Given the description of an element on the screen output the (x, y) to click on. 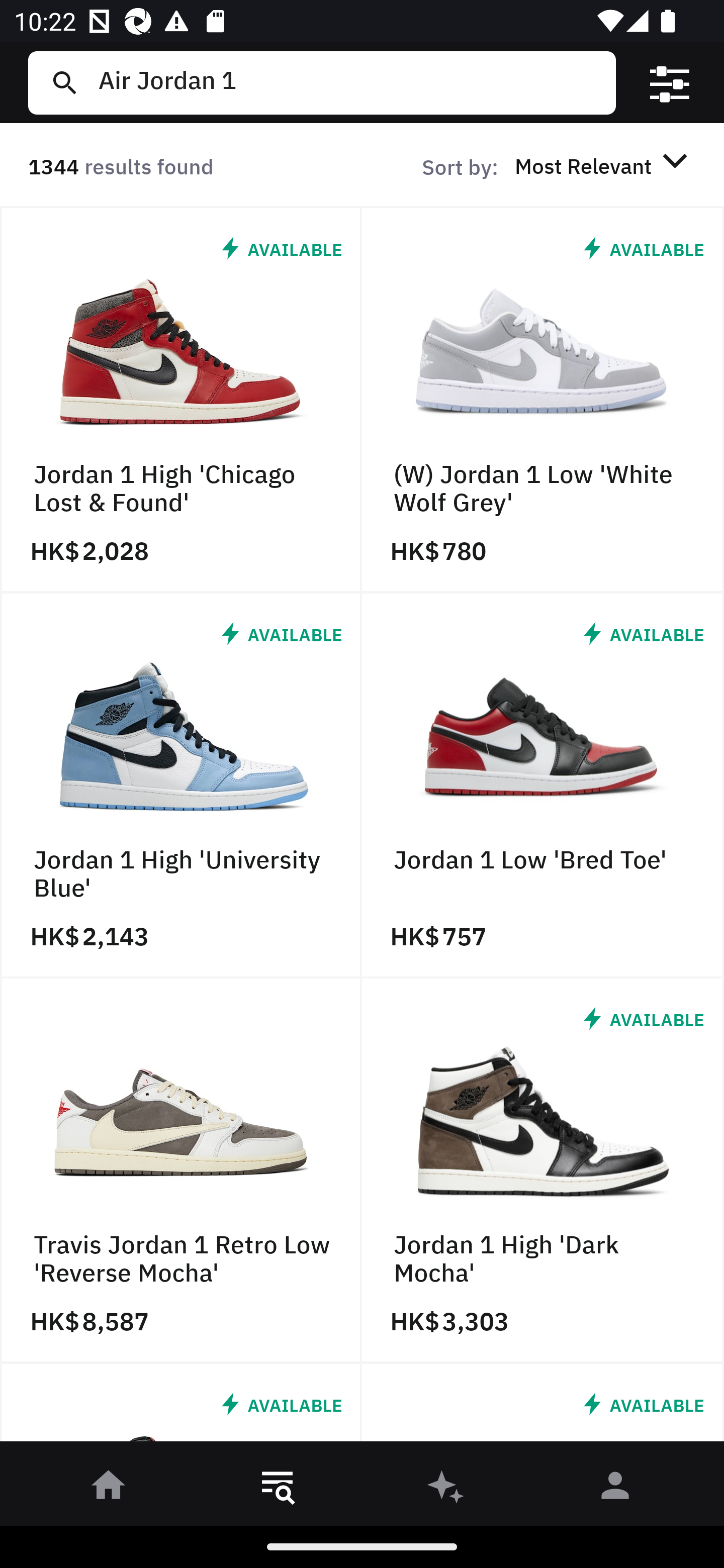
Air Jordan 1 (349, 82)
 (669, 82)
Most Relevant  (604, 165)
 AVAILABLE Jordan 1 Low 'Bred Toe' HK$ 757 (543, 785)
 AVAILABLE Jordan 1 High 'Dark Mocha' HK$ 3,303 (543, 1171)
󰋜 (108, 1488)
󱎸 (277, 1488)
󰫢 (446, 1488)
󰀄 (615, 1488)
